Given the description of an element on the screen output the (x, y) to click on. 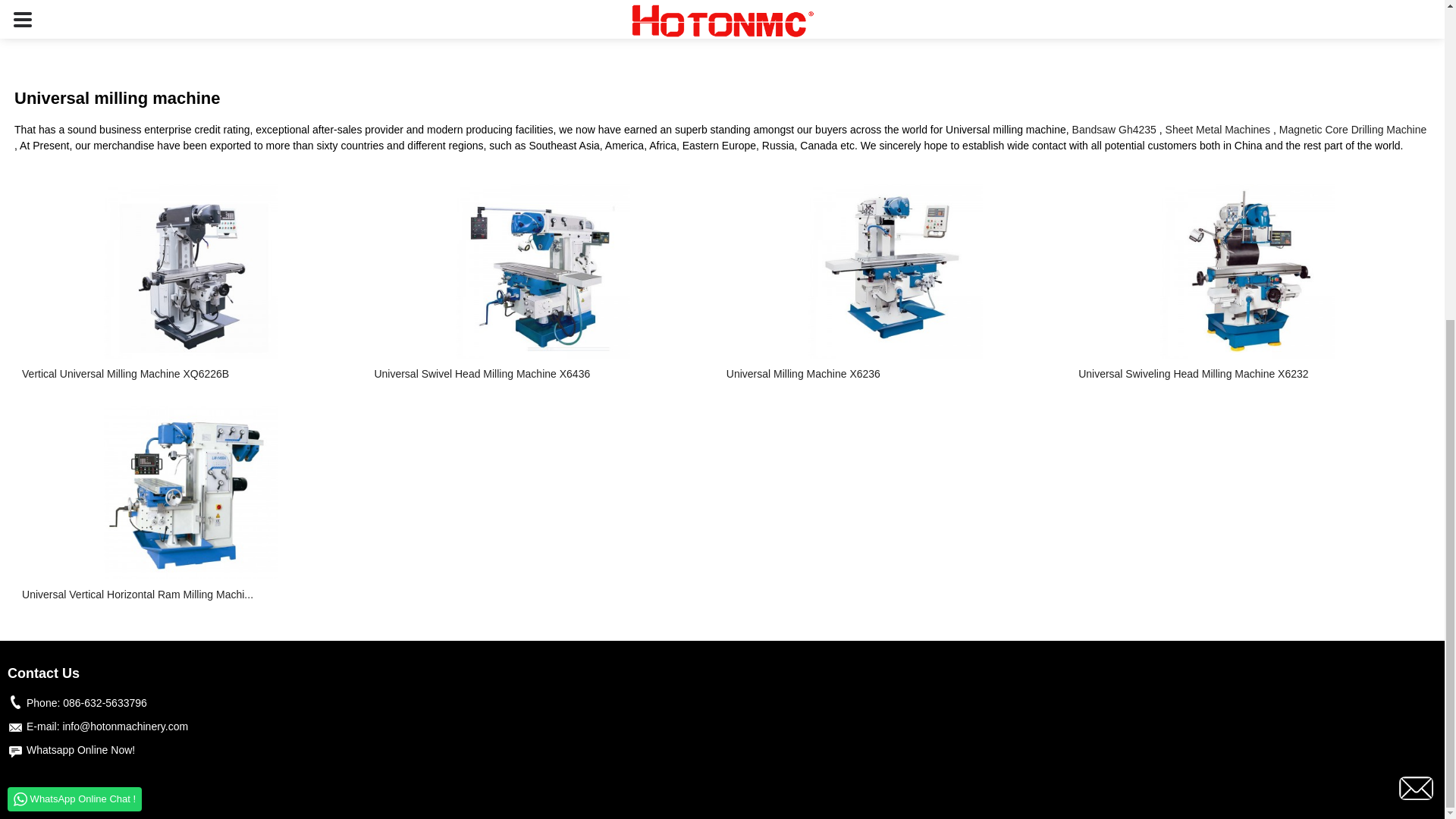
Sheet Metal Machines (1218, 129)
Universal Swiveling Head Milling Machine X6232 (1246, 374)
Bandsaw Gh4235 (1113, 129)
Magnetic Core Drilling Machine (1352, 129)
Universal Swivel Head Milling Machine X6436 (542, 374)
Bandsaw Gh4235 (1113, 129)
Vertical Universal Milling Machine XQ6226B (190, 374)
Sheet Metal Machines (1218, 129)
086-632-5633796 (104, 702)
Universal Milling Machine X6236 (895, 374)
Universal Vertical Horizontal Ram Milling Machi... (190, 594)
Magnetic Core Drilling Machine (1352, 129)
